Given the description of an element on the screen output the (x, y) to click on. 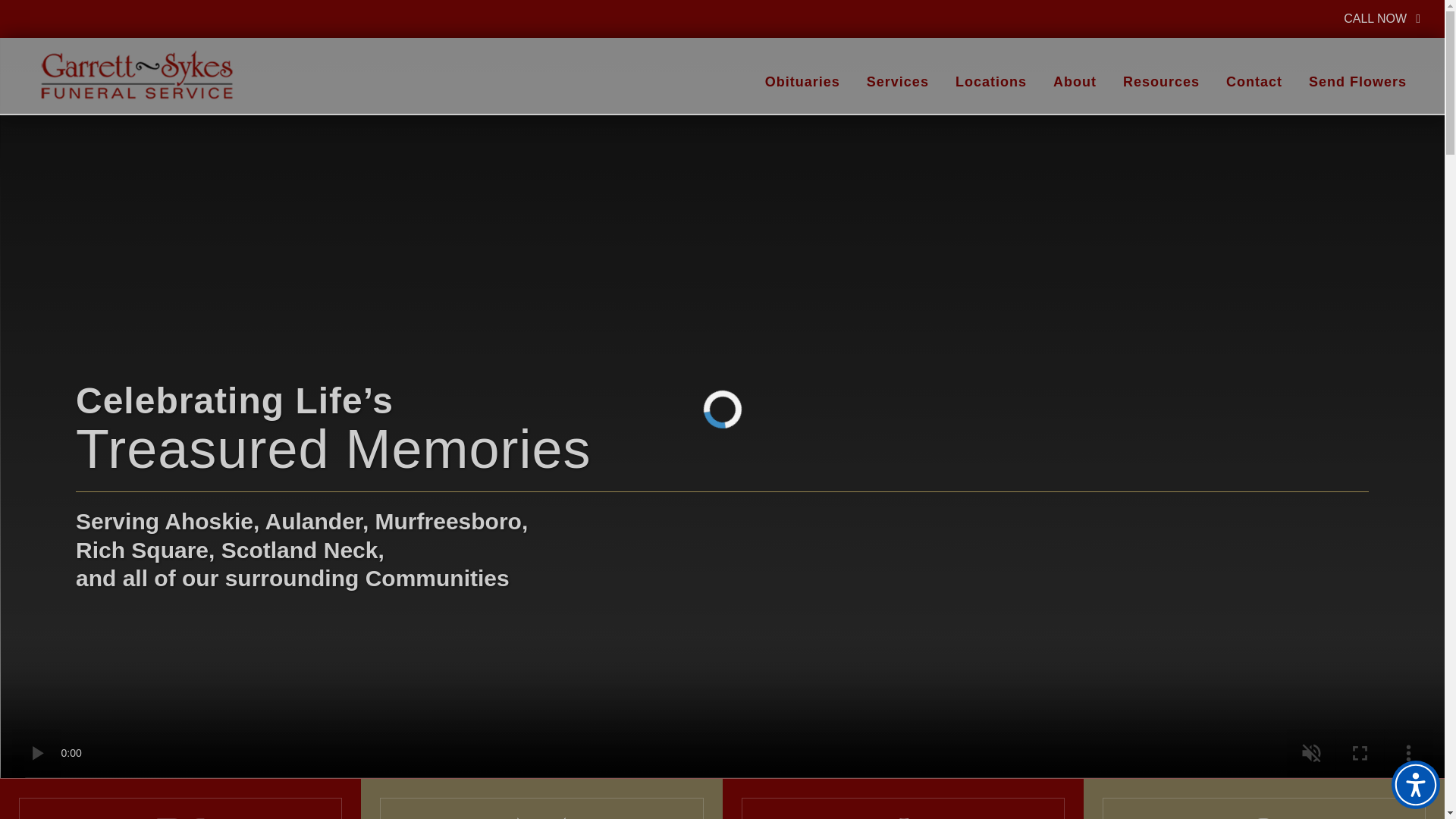
Send Flowers (1357, 81)
Dove icon (180, 818)
Accessibility Menu (1415, 784)
American flag icon (541, 818)
Contact (180, 808)
Location marker icon (1253, 81)
Obituaries (1263, 818)
Locations (802, 81)
Logo (990, 81)
